Given the description of an element on the screen output the (x, y) to click on. 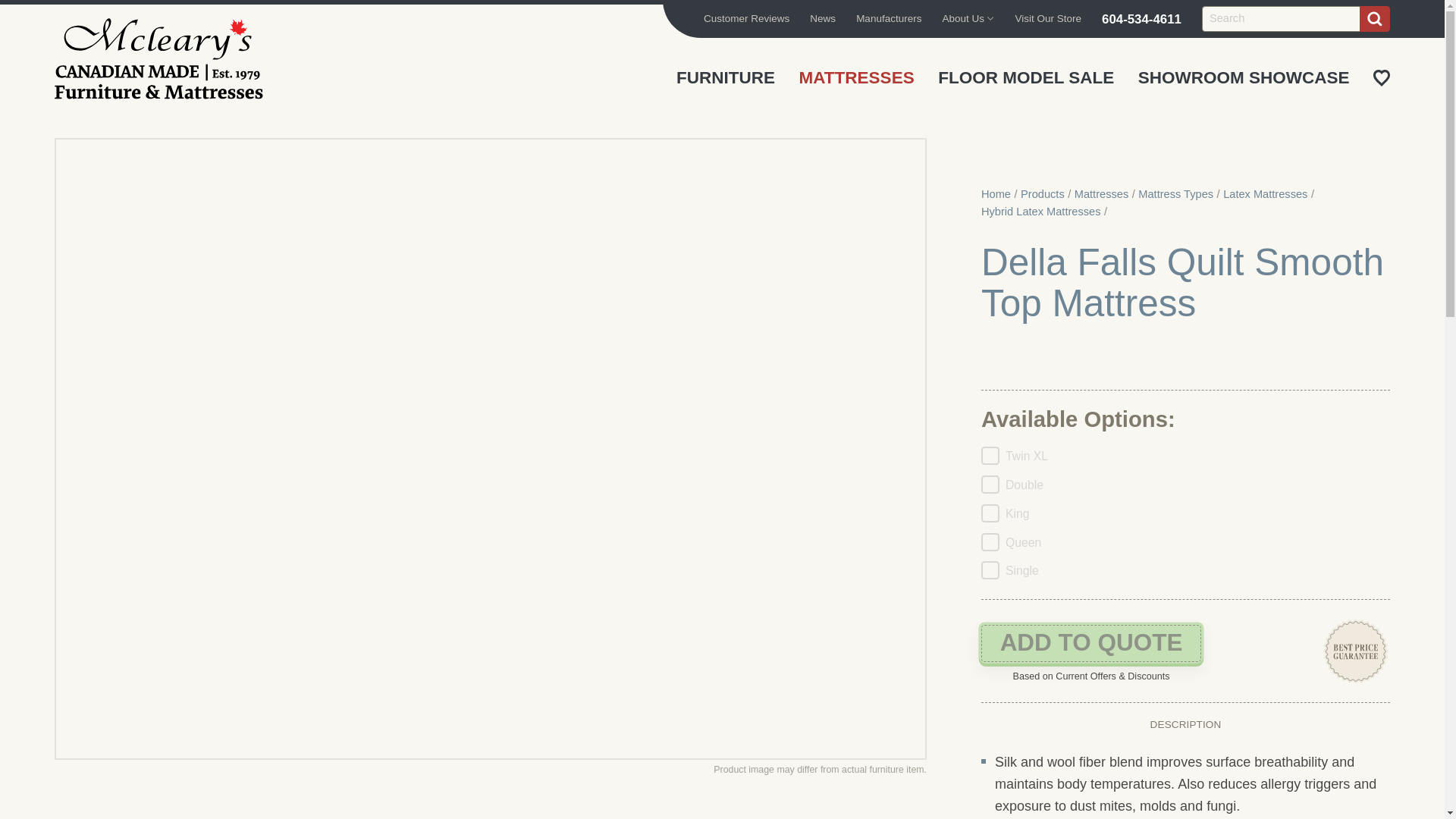
Visit Our Store (1047, 18)
Manufacturers (888, 18)
About Us (968, 18)
Customer Reviews (746, 18)
FURNITURE (725, 77)
604-534-4611 (1141, 18)
Search (1374, 18)
